Given the description of an element on the screen output the (x, y) to click on. 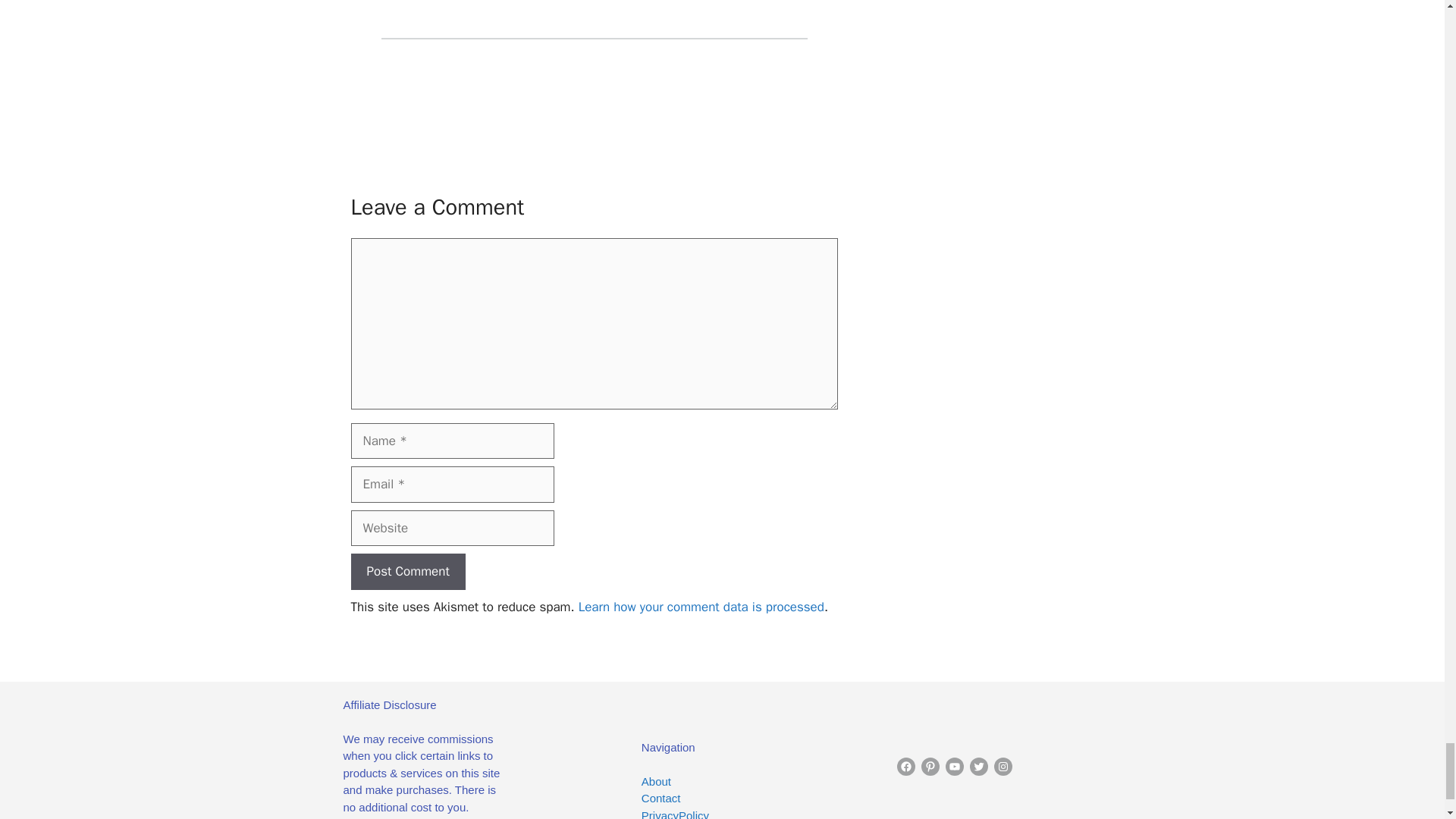
Post Comment (407, 571)
